Given the description of an element on the screen output the (x, y) to click on. 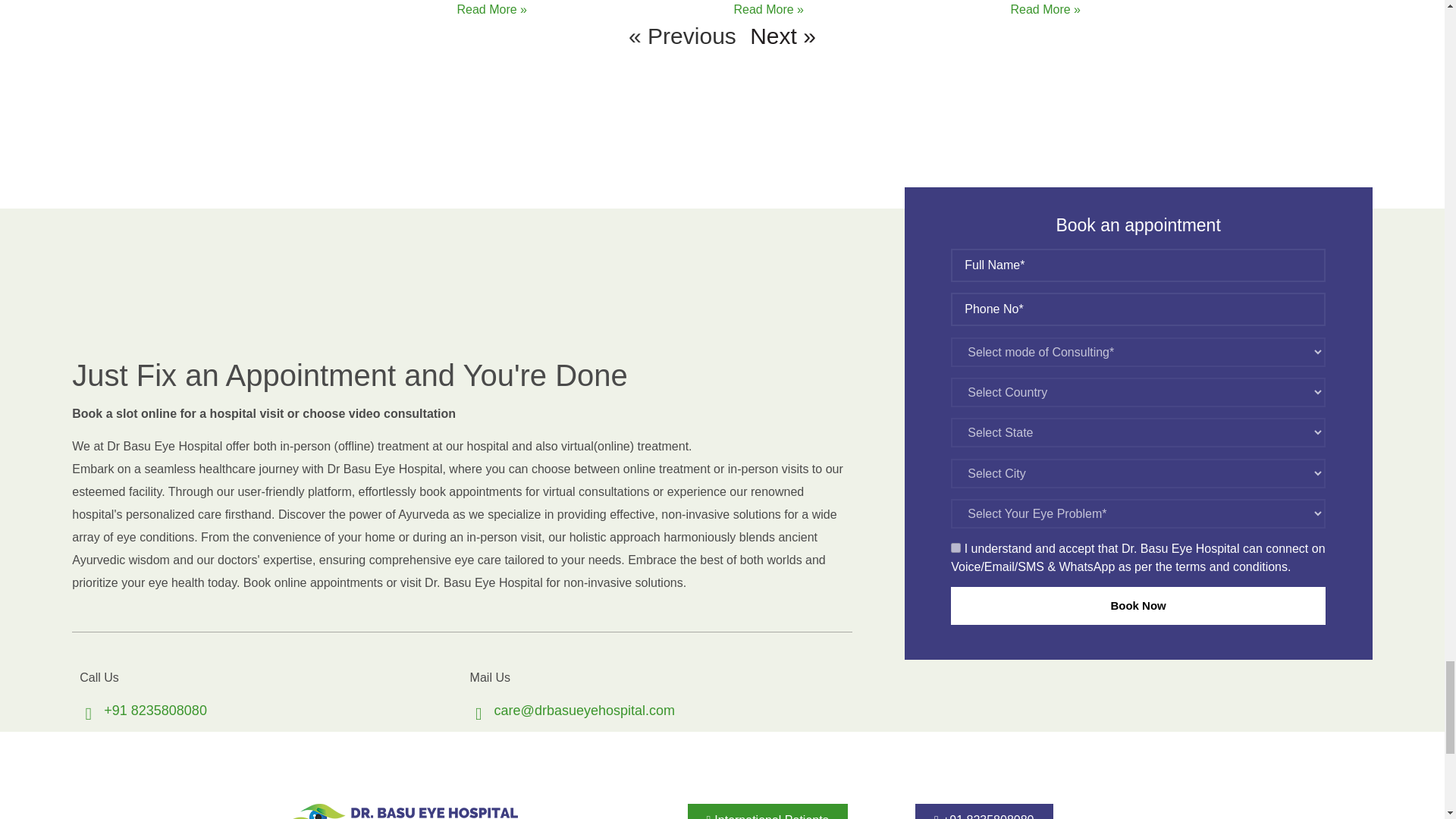
Book Now (1137, 606)
